Given the description of an element on the screen output the (x, y) to click on. 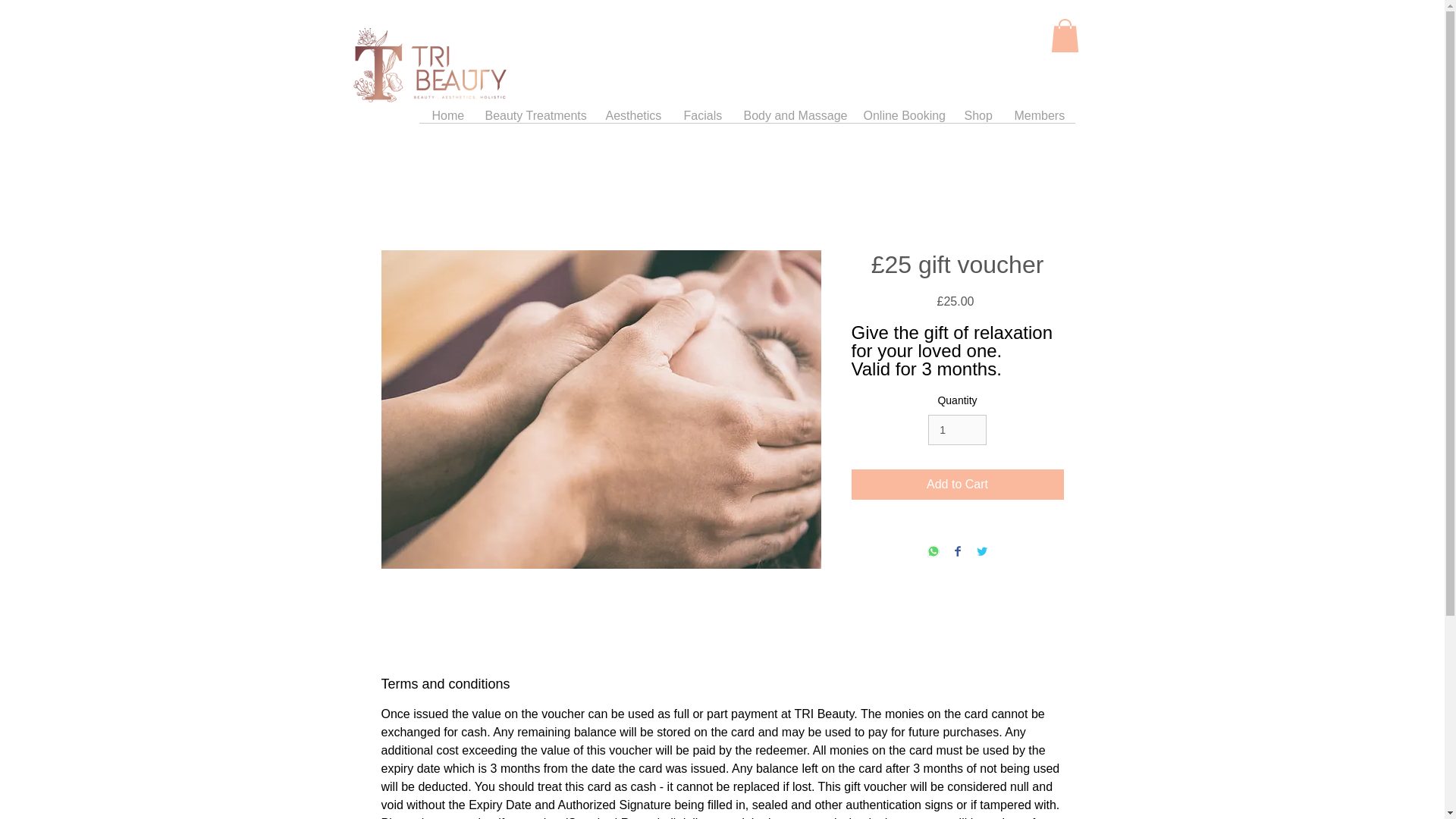
Home (446, 120)
1 (956, 429)
Facials (701, 120)
Body and Massage (791, 120)
Aesthetics (633, 120)
Beauty Treatments (533, 120)
